Given the description of an element on the screen output the (x, y) to click on. 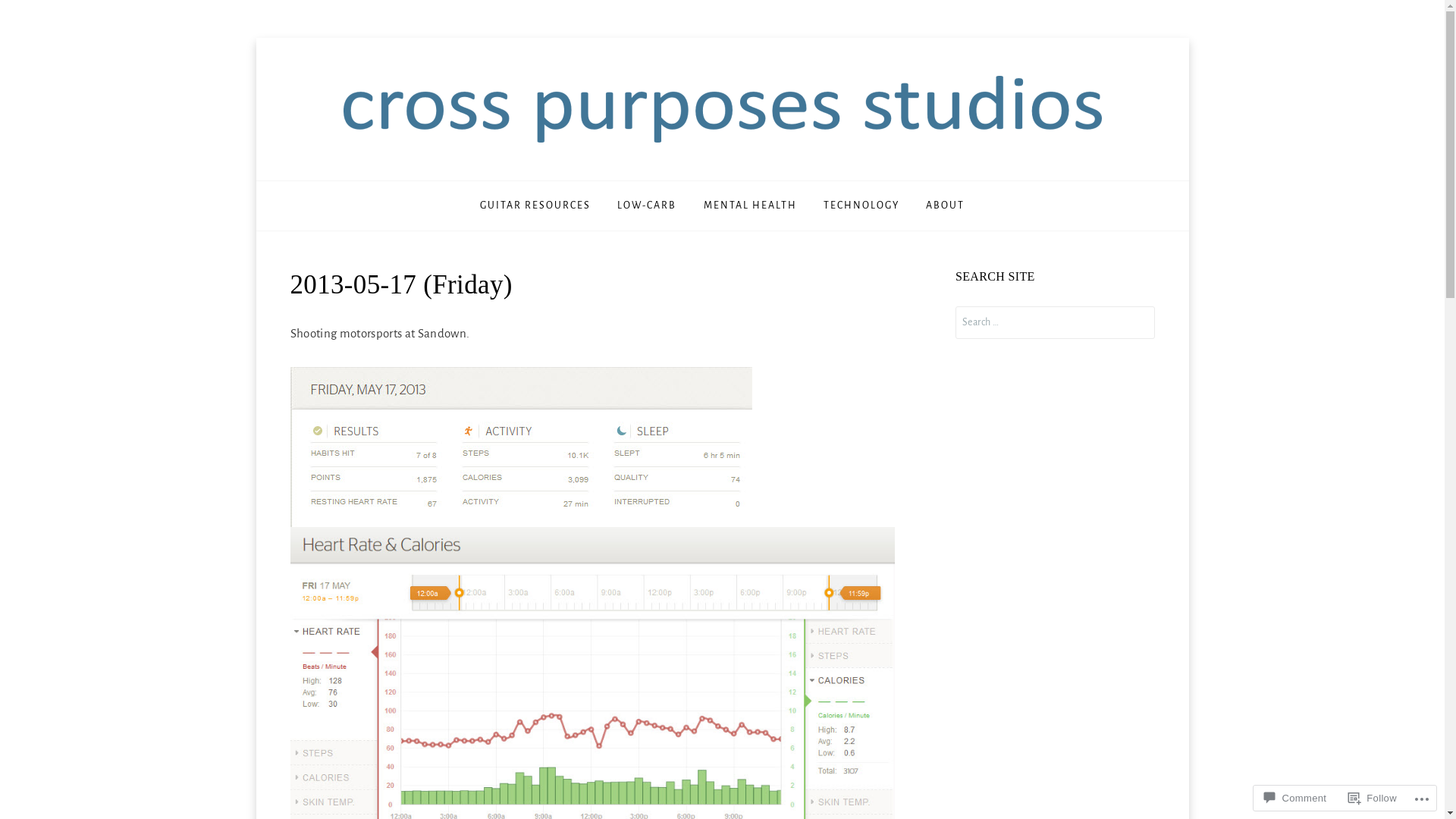
TECHNOLOGY Element type: text (861, 205)
ABOUT Element type: text (944, 205)
Comment Element type: text (1294, 797)
GUITAR RESOURCES Element type: text (535, 205)
CROSS.COM.AU Element type: text (520, 177)
MENTAL HEALTH Element type: text (749, 205)
Follow Element type: text (1372, 797)
LOW-CARB Element type: text (646, 205)
Search Element type: text (41, 13)
